Given the description of an element on the screen output the (x, y) to click on. 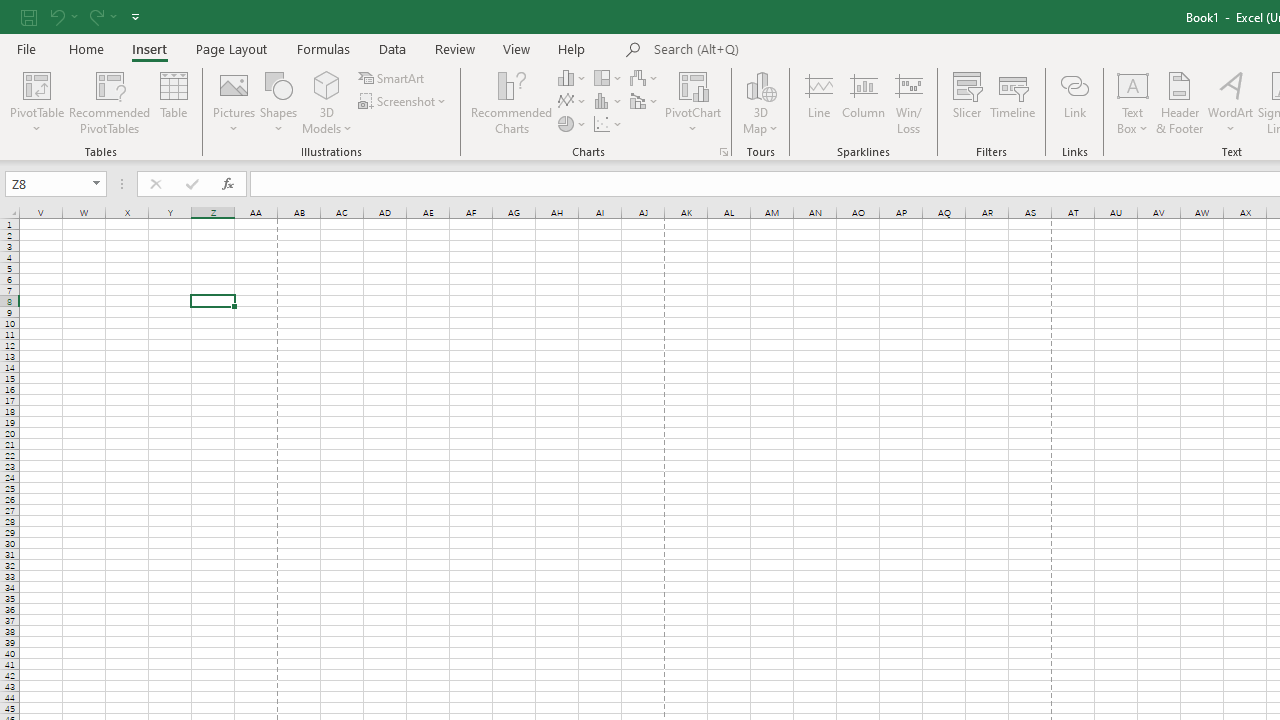
3D Map (760, 84)
Insert Waterfall, Funnel, Stock, Surface, or Radar Chart (645, 78)
Header & Footer... (1179, 102)
Screenshot (403, 101)
PivotTable (36, 84)
Line (818, 102)
Insert Line or Area Chart (573, 101)
WordArt (1230, 102)
Insert Hierarchy Chart (609, 78)
Insert Scatter (X, Y) or Bubble Chart (609, 124)
PivotTable (36, 102)
Win/Loss (909, 102)
